Given the description of an element on the screen output the (x, y) to click on. 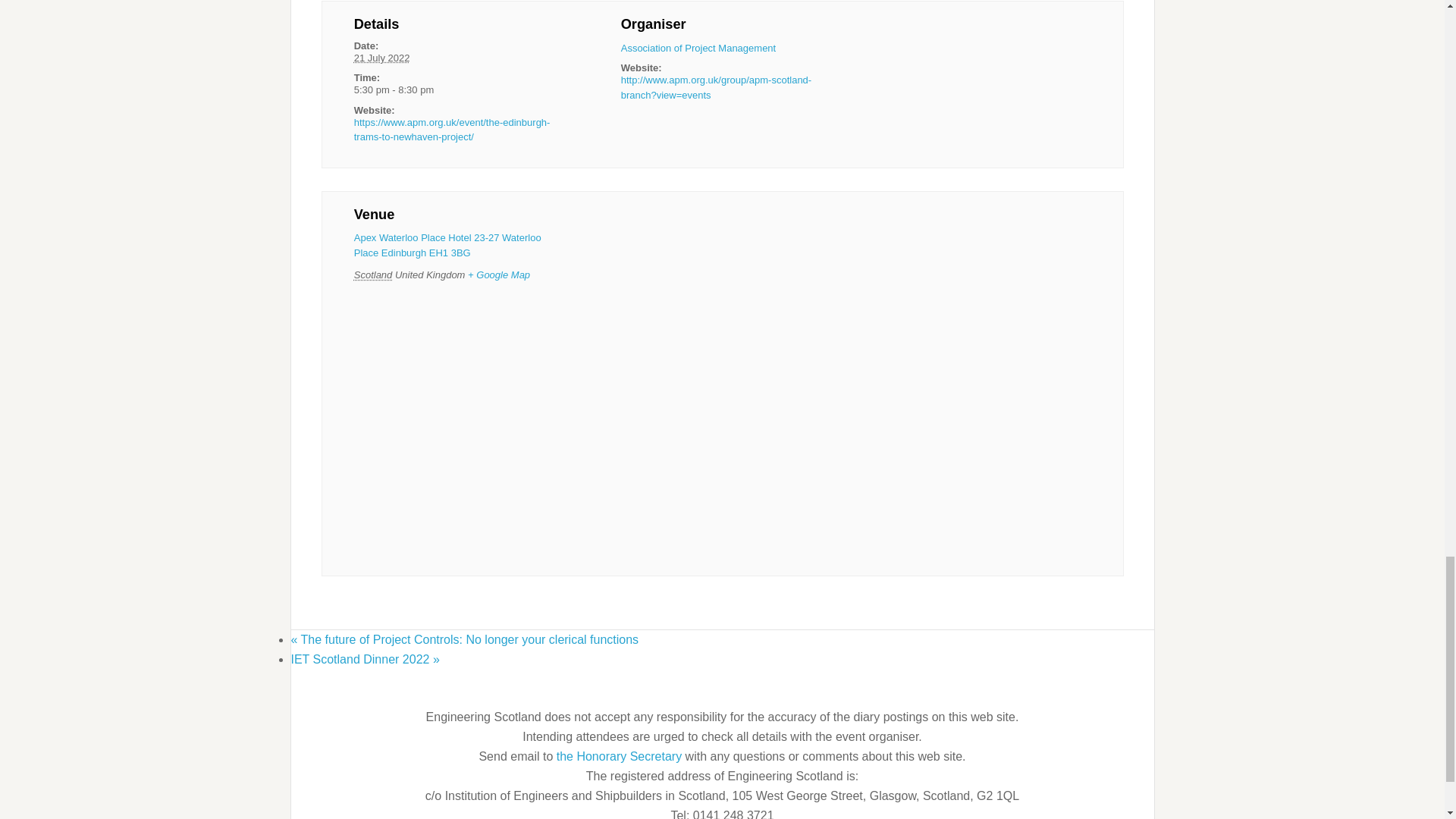
2022-07-21 (381, 57)
2022-07-21 (455, 89)
Association of Project Management (698, 48)
Click to view a Google Map (498, 274)
Scotland (373, 274)
Association of Project Management (698, 48)
the Honorary Secretary (620, 756)
